Given the description of an element on the screen output the (x, y) to click on. 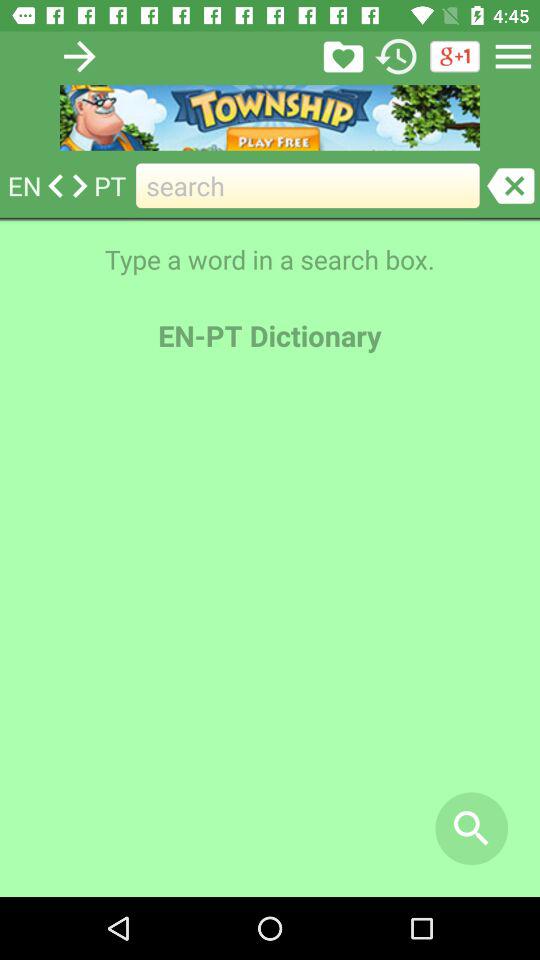
options menu (513, 56)
